Given the description of an element on the screen output the (x, y) to click on. 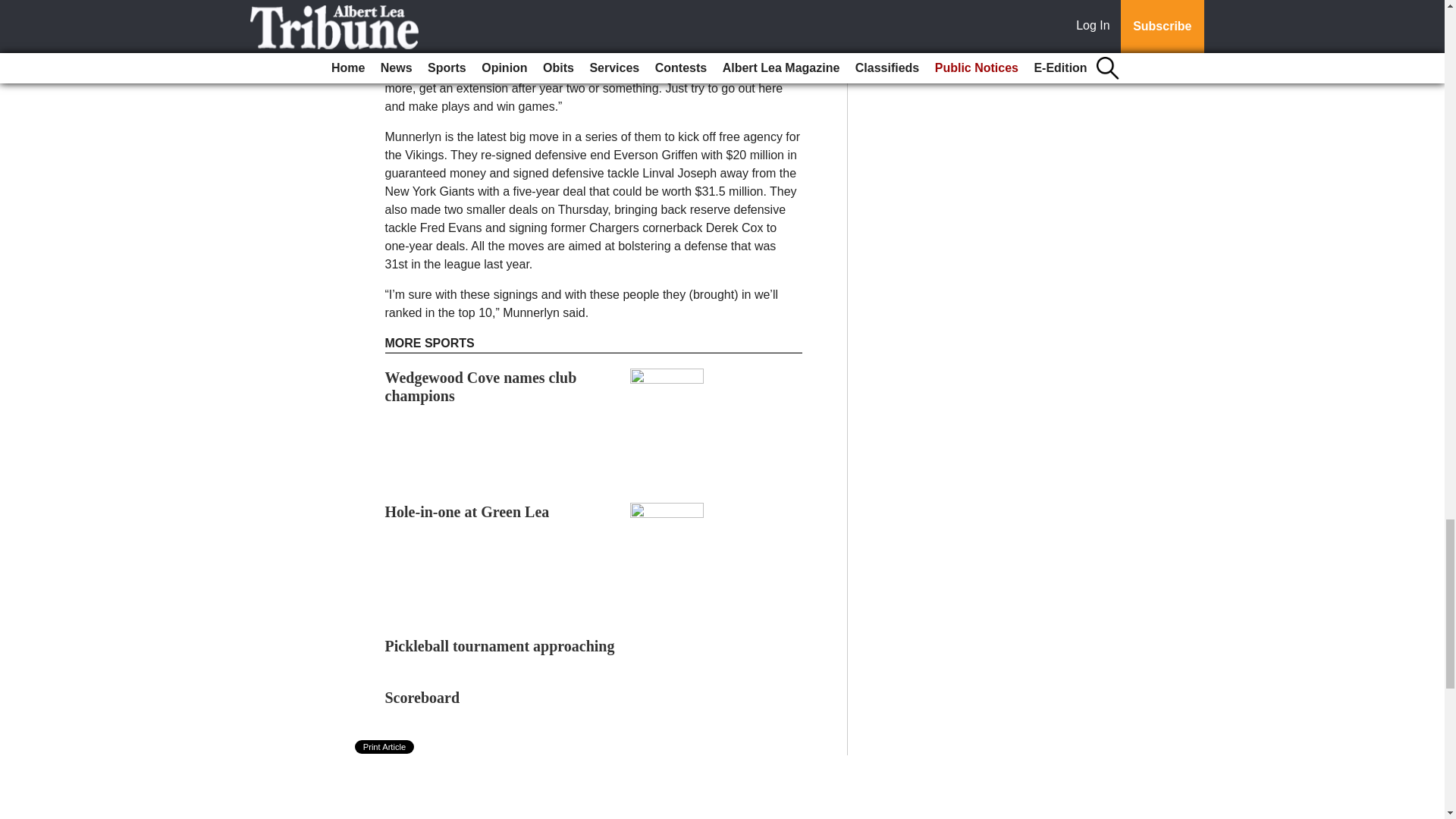
Pickleball tournament approaching (499, 646)
Scoreboard (422, 697)
Wedgewood Cove names club champions (480, 386)
Hole-in-one at Green Lea (467, 511)
